Given the description of an element on the screen output the (x, y) to click on. 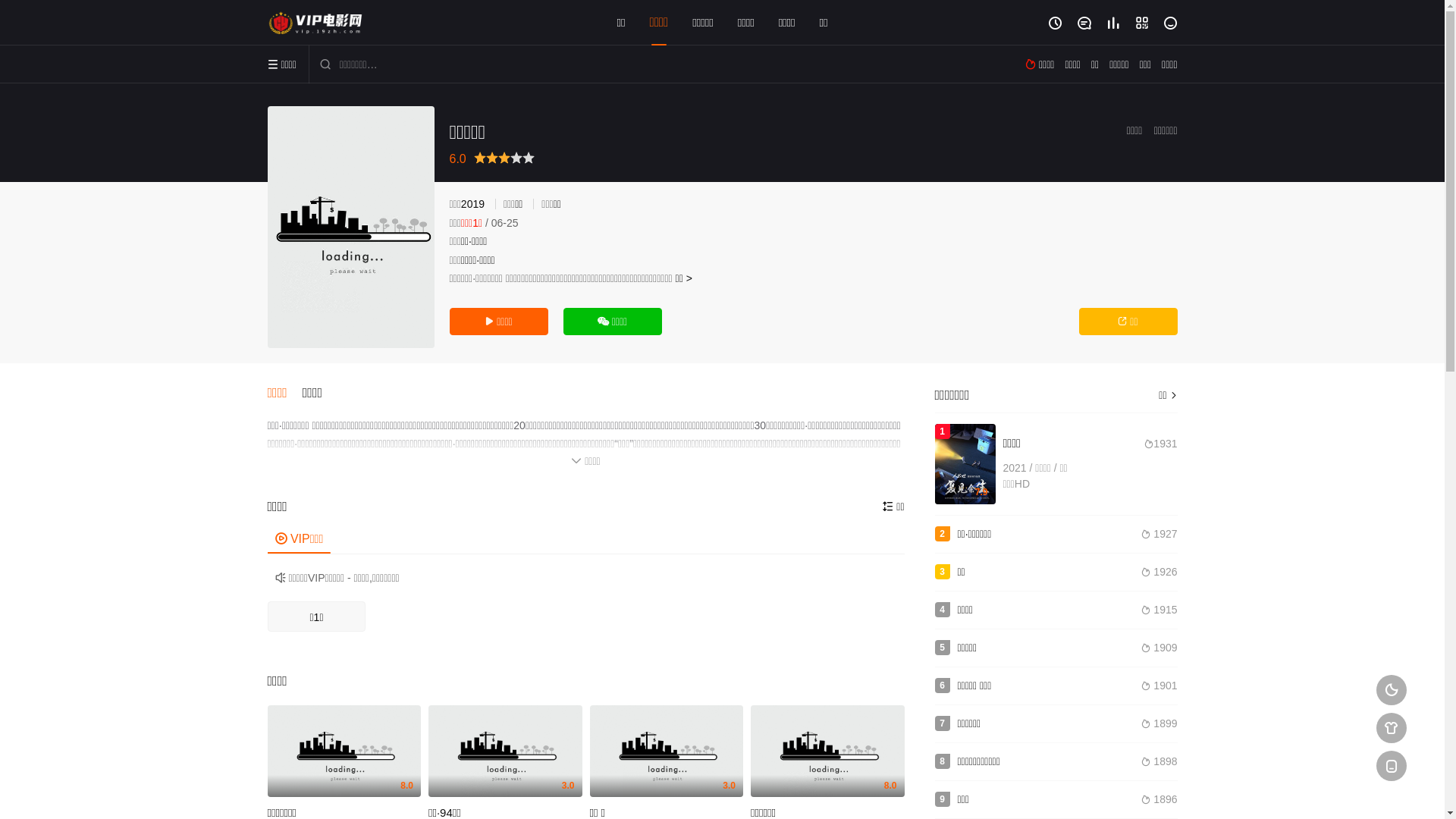
3.0 Element type: text (666, 751)
3.0 Element type: text (505, 751)
8.0 Element type: text (343, 751)
8.0 Element type: text (827, 751)
2019 Element type: text (472, 203)
